Given the description of an element on the screen output the (x, y) to click on. 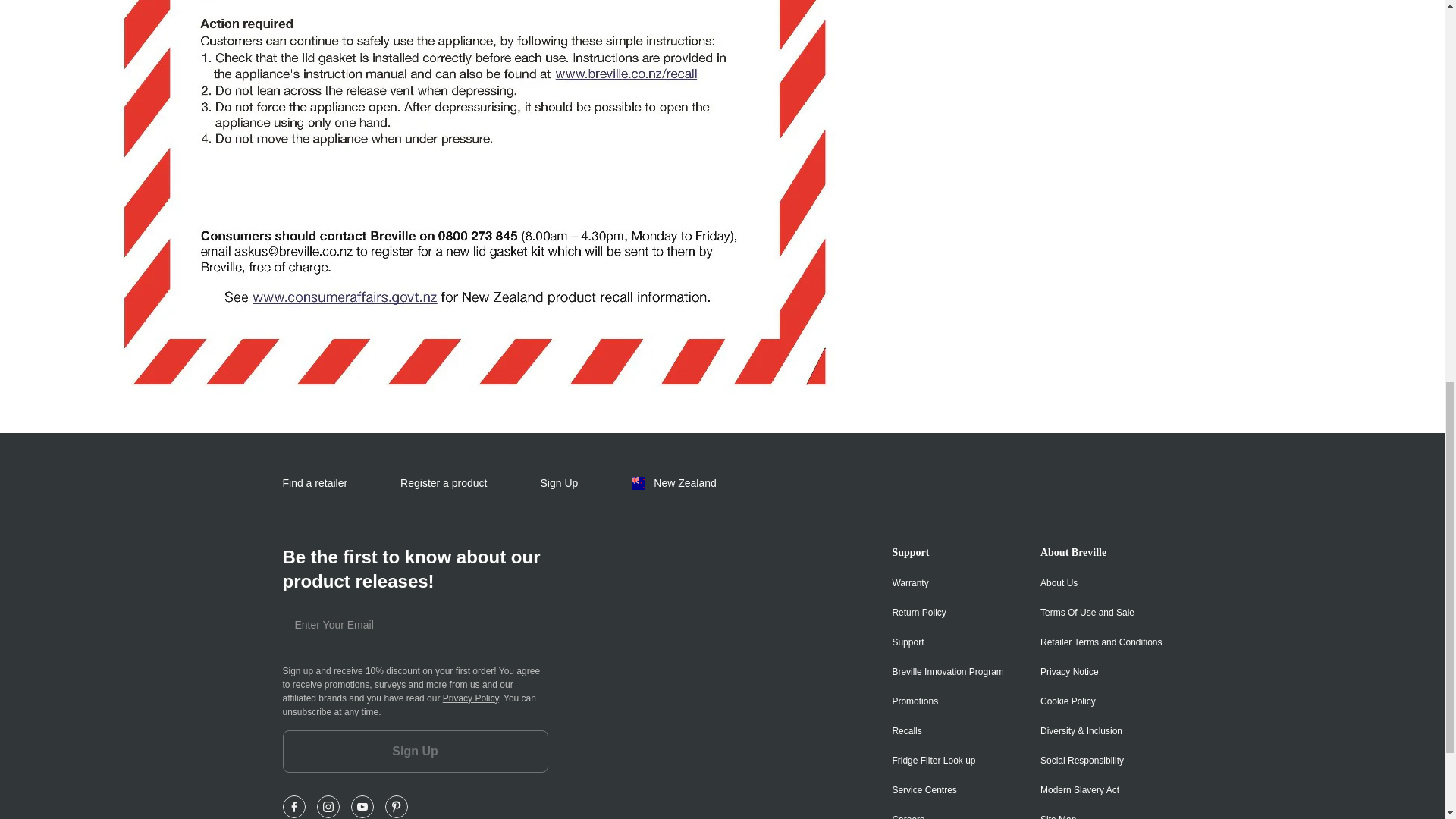
Privacy Policy (470, 697)
